Given the description of an element on the screen output the (x, y) to click on. 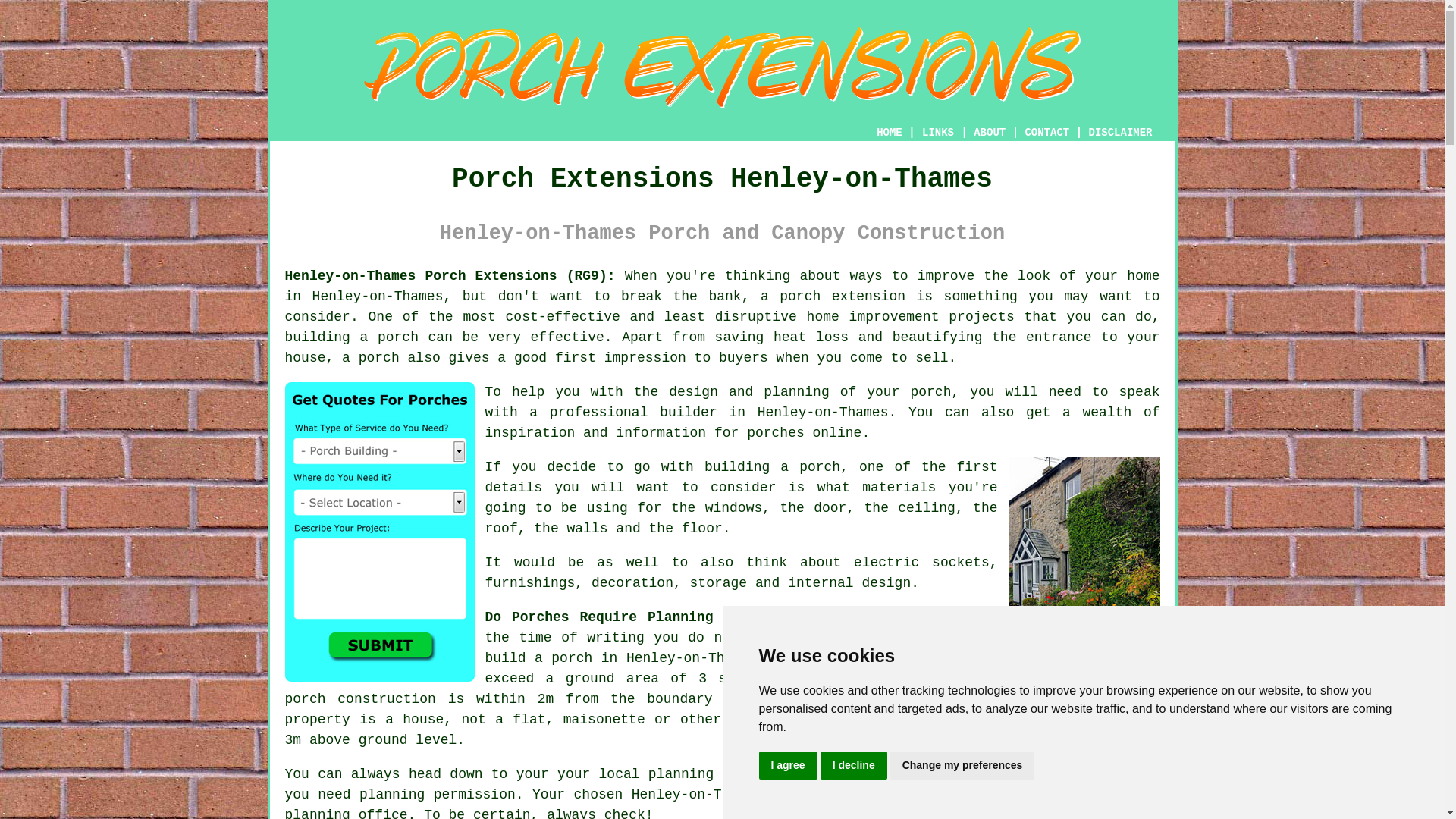
I decline (853, 765)
I agree (787, 765)
LINKS (938, 132)
HOME (889, 132)
Porch Extensions Henley-on-Thames (722, 67)
Change my preferences (962, 765)
